Given the description of an element on the screen output the (x, y) to click on. 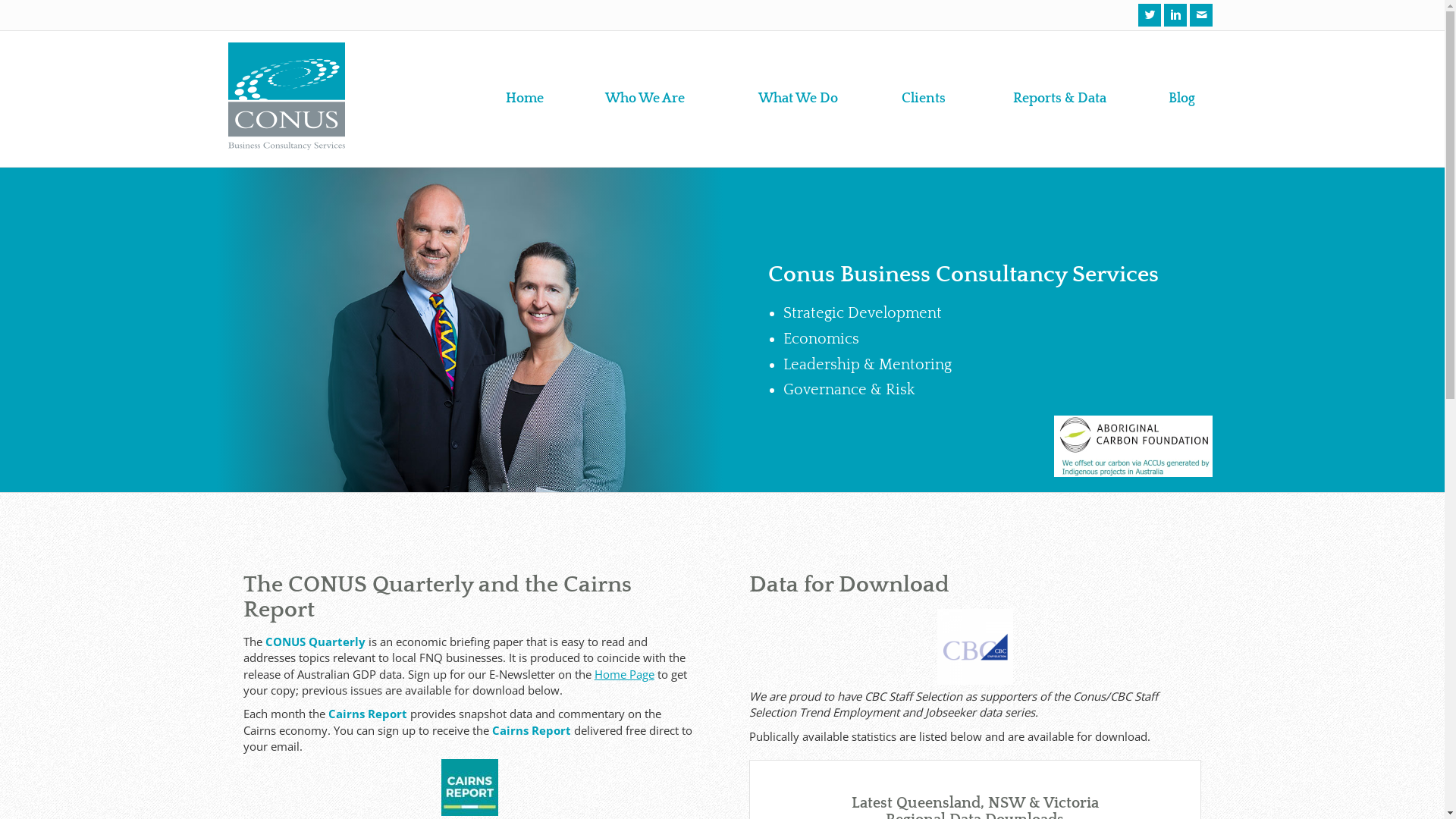
What We Do Element type: text (798, 98)
Who We Are Element type: text (644, 98)
Home Element type: text (524, 98)
Home Page Element type: text (624, 673)
Reports & Data Element type: text (1059, 98)
Blog Element type: text (1181, 98)
Clients Element type: text (923, 98)
